Given the description of an element on the screen output the (x, y) to click on. 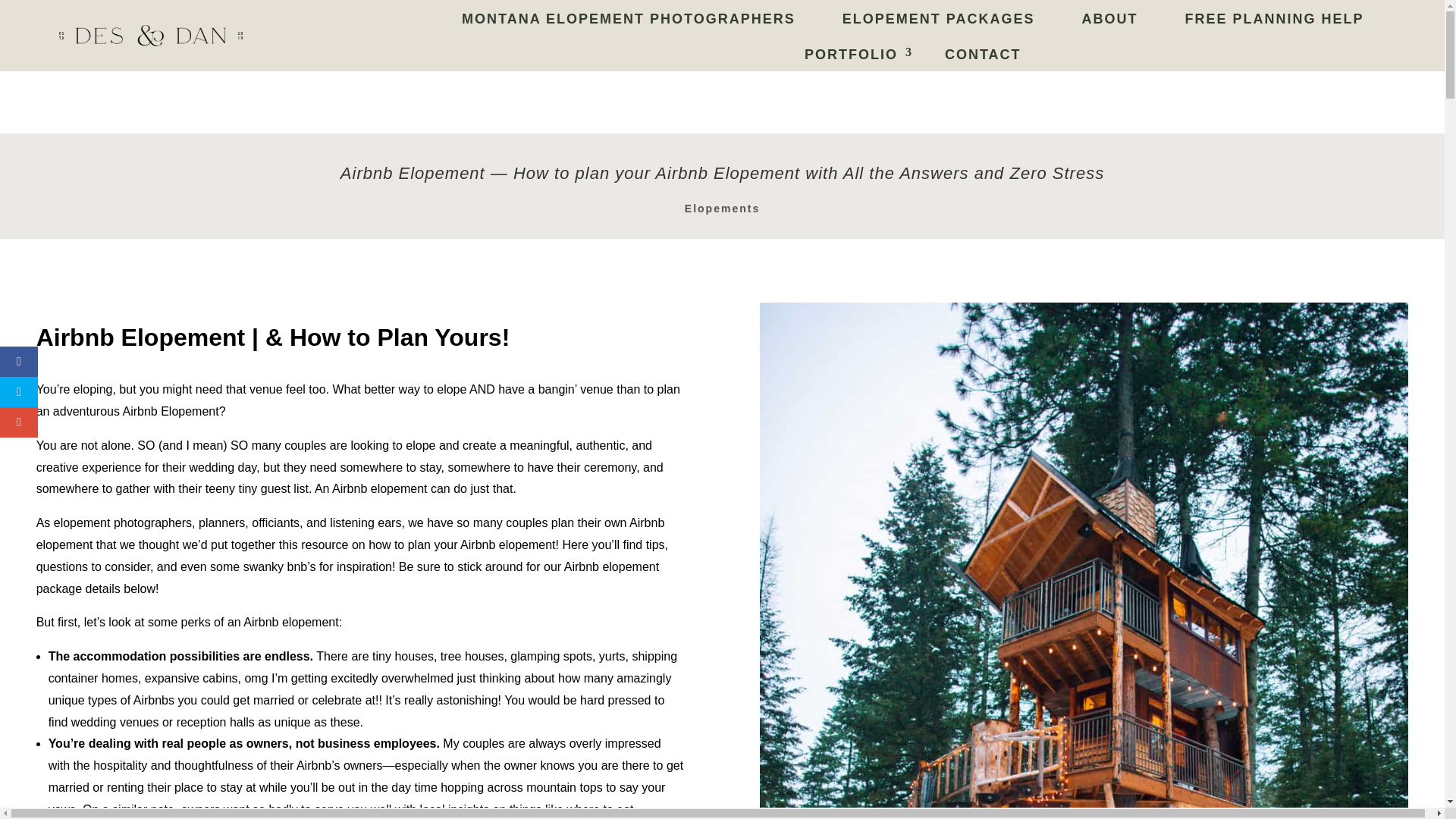
CONTACT (983, 56)
ELOPEMENT PACKAGES (938, 20)
Elopements (722, 208)
PORTFOLIO (850, 56)
ABOUT (1109, 20)
MONTANA ELOPEMENT PHOTOGRAPHERS (628, 20)
BELLAMAVEN.DESANDDAN.PRIMARY-DATES.BLACK (151, 35)
FREE PLANNING HELP (1273, 20)
